Given the description of an element on the screen output the (x, y) to click on. 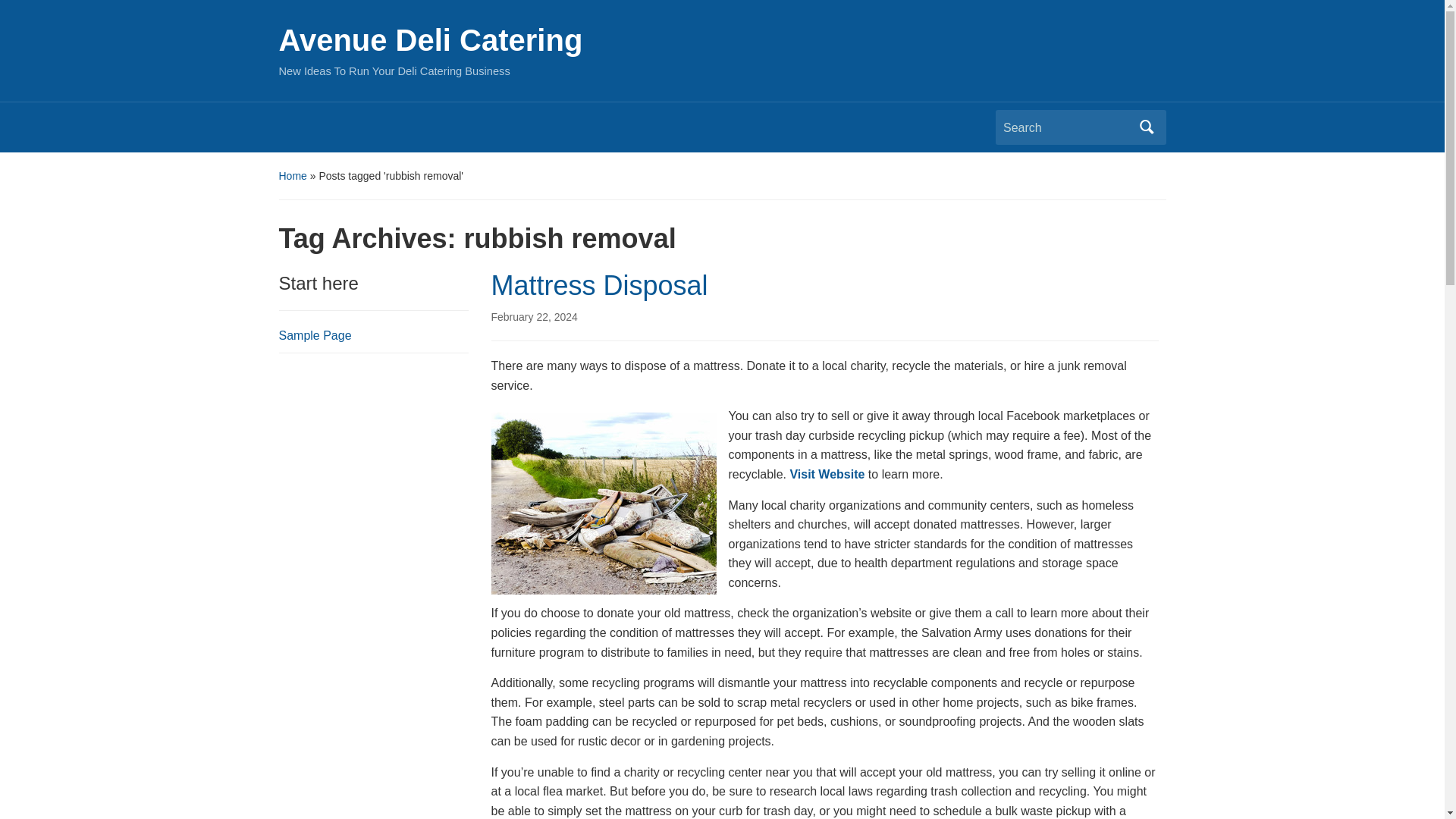
Visit Website (826, 473)
Avenue Deli Catering (431, 39)
Mattress Disposal (599, 285)
February 22, 2024 (535, 316)
Search (1146, 127)
Sample Page (315, 335)
Permanent Link to Mattress Disposal (535, 316)
Home (293, 175)
